Given the description of an element on the screen output the (x, y) to click on. 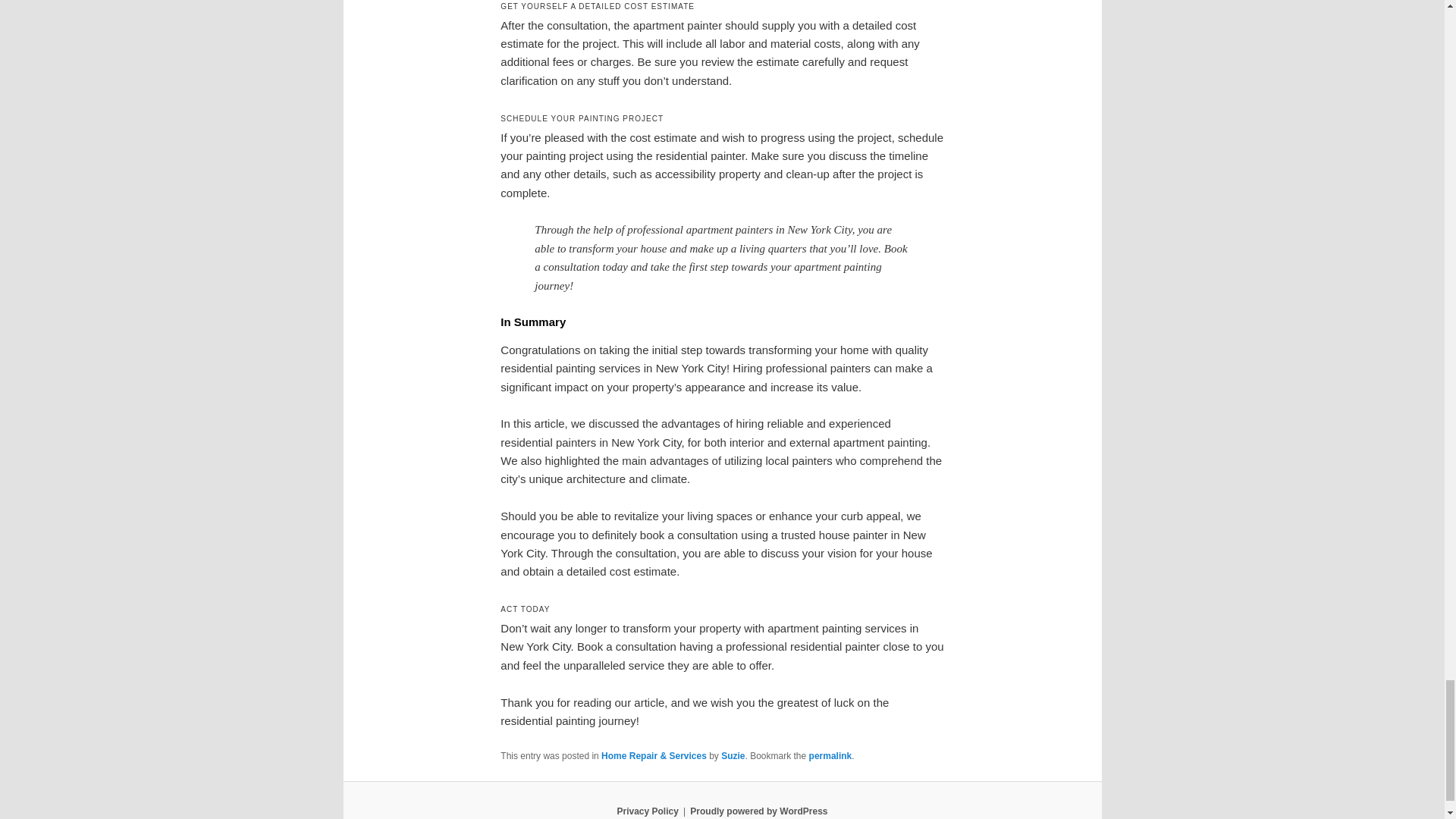
Privacy Policy (646, 810)
Permalink to Skilled Professionals for House Painting in NYC (830, 756)
Semantic Personal Publishing Platform (758, 810)
Suzie (732, 756)
Proudly powered by WordPress (758, 810)
permalink (830, 756)
